Given the description of an element on the screen output the (x, y) to click on. 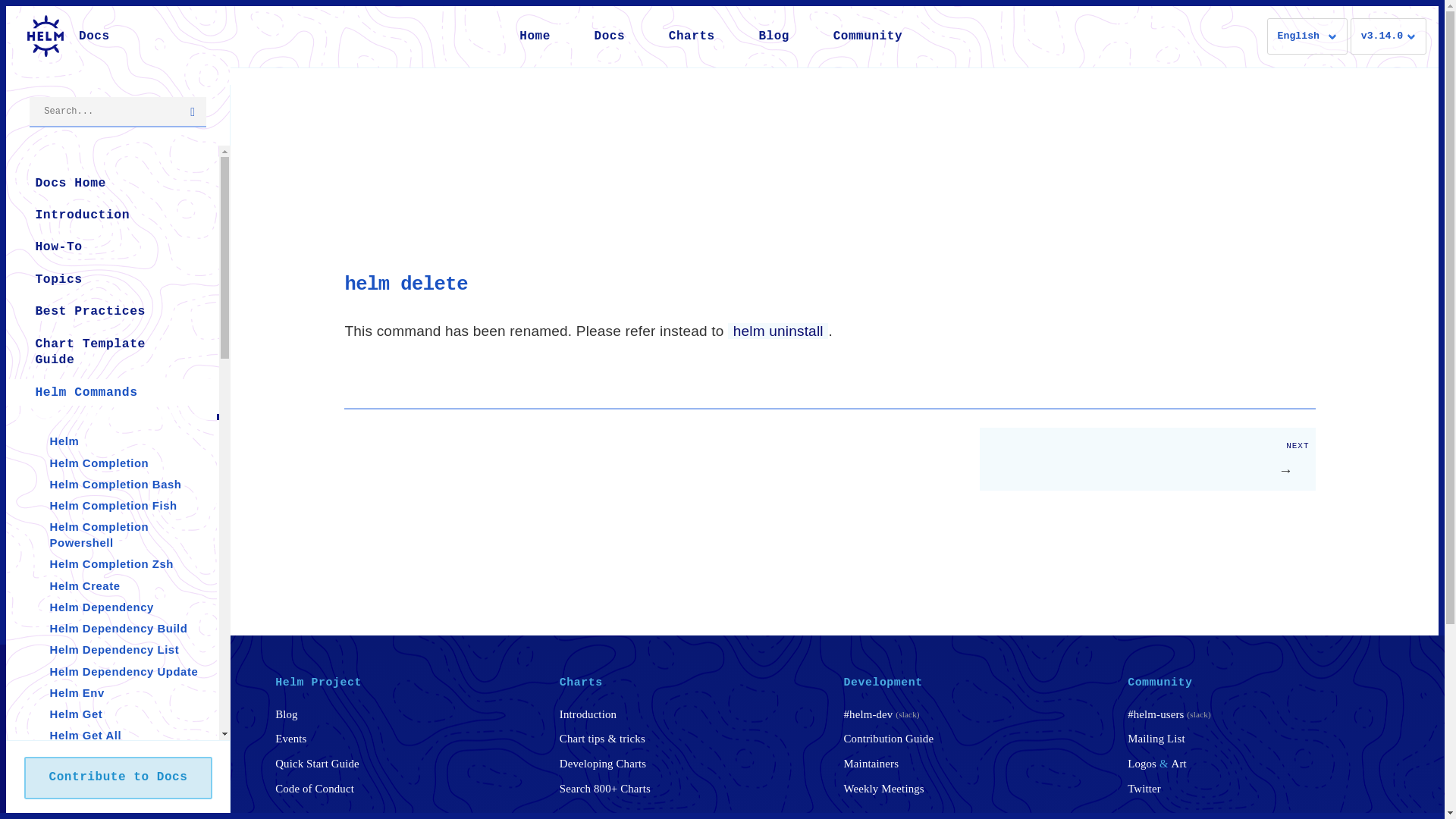
How-To (112, 247)
Introduction (112, 214)
Home (534, 35)
v3.14.0 (1388, 36)
on (10, 13)
Blog (773, 35)
Helm (117, 37)
Community (867, 35)
Docs Home (112, 182)
Docs (609, 35)
English (1307, 36)
Charts (691, 35)
